Given the description of an element on the screen output the (x, y) to click on. 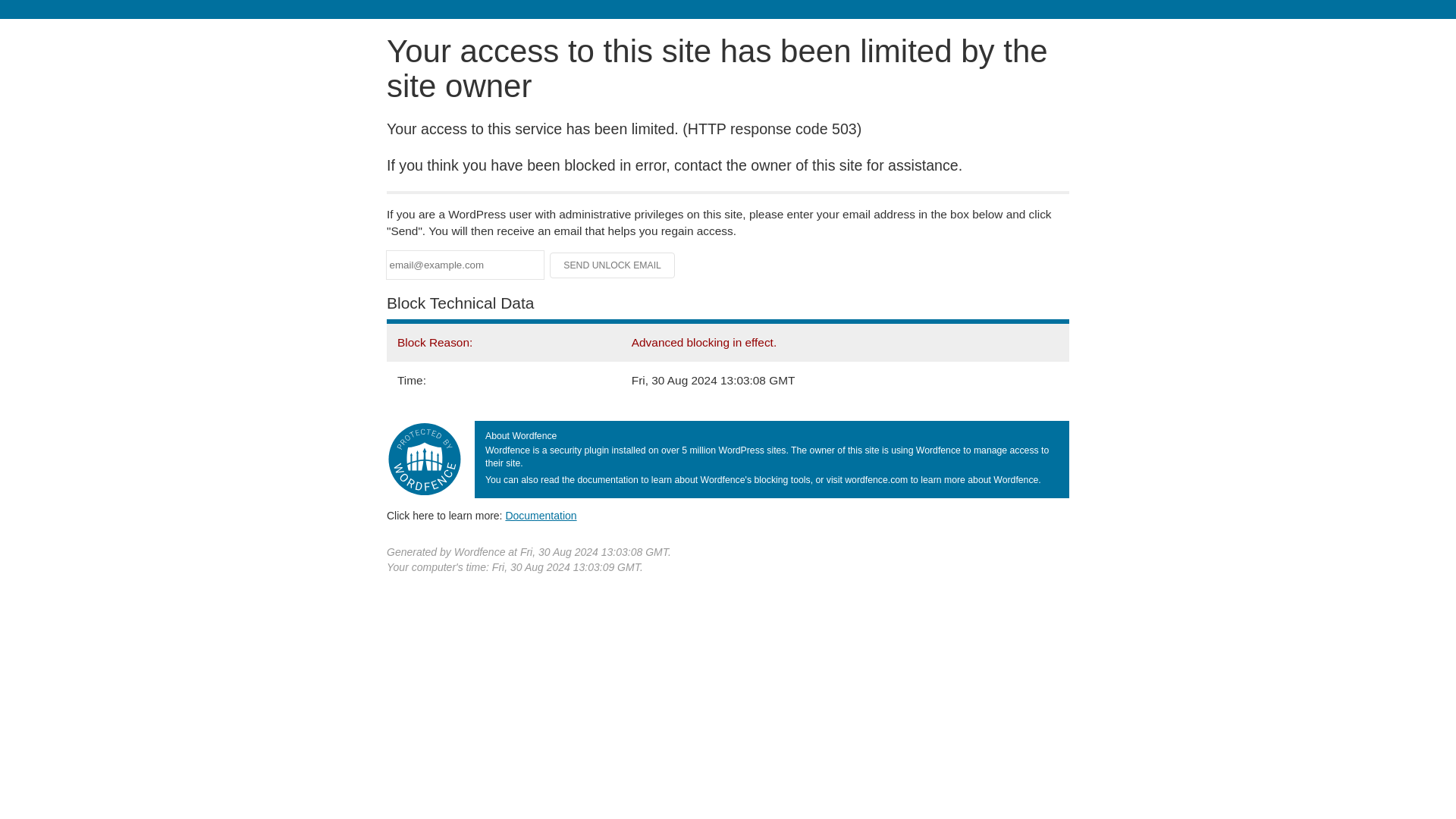
Send Unlock Email (612, 265)
Send Unlock Email (612, 265)
Documentation (540, 515)
